Given the description of an element on the screen output the (x, y) to click on. 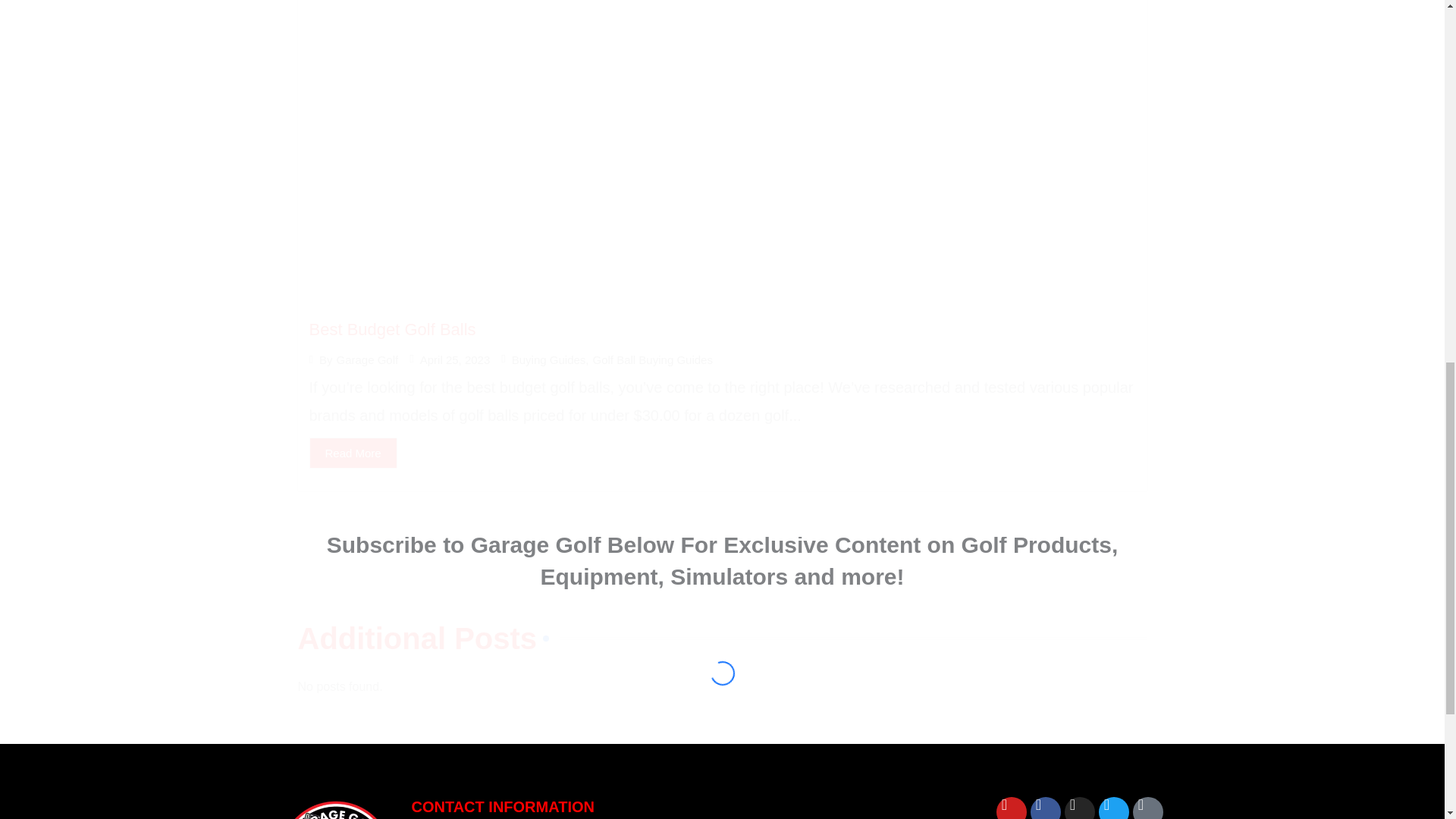
April 25, 2023 (455, 359)
Buying Guides (549, 359)
Read More (352, 452)
Golf Ball Buying Guides (652, 359)
Best Budget Golf Balls (392, 329)
Garage Golf (367, 359)
Youtube (1010, 807)
Instagram (1079, 807)
Twitter (1114, 807)
Facebook (1045, 807)
